Given the description of an element on the screen output the (x, y) to click on. 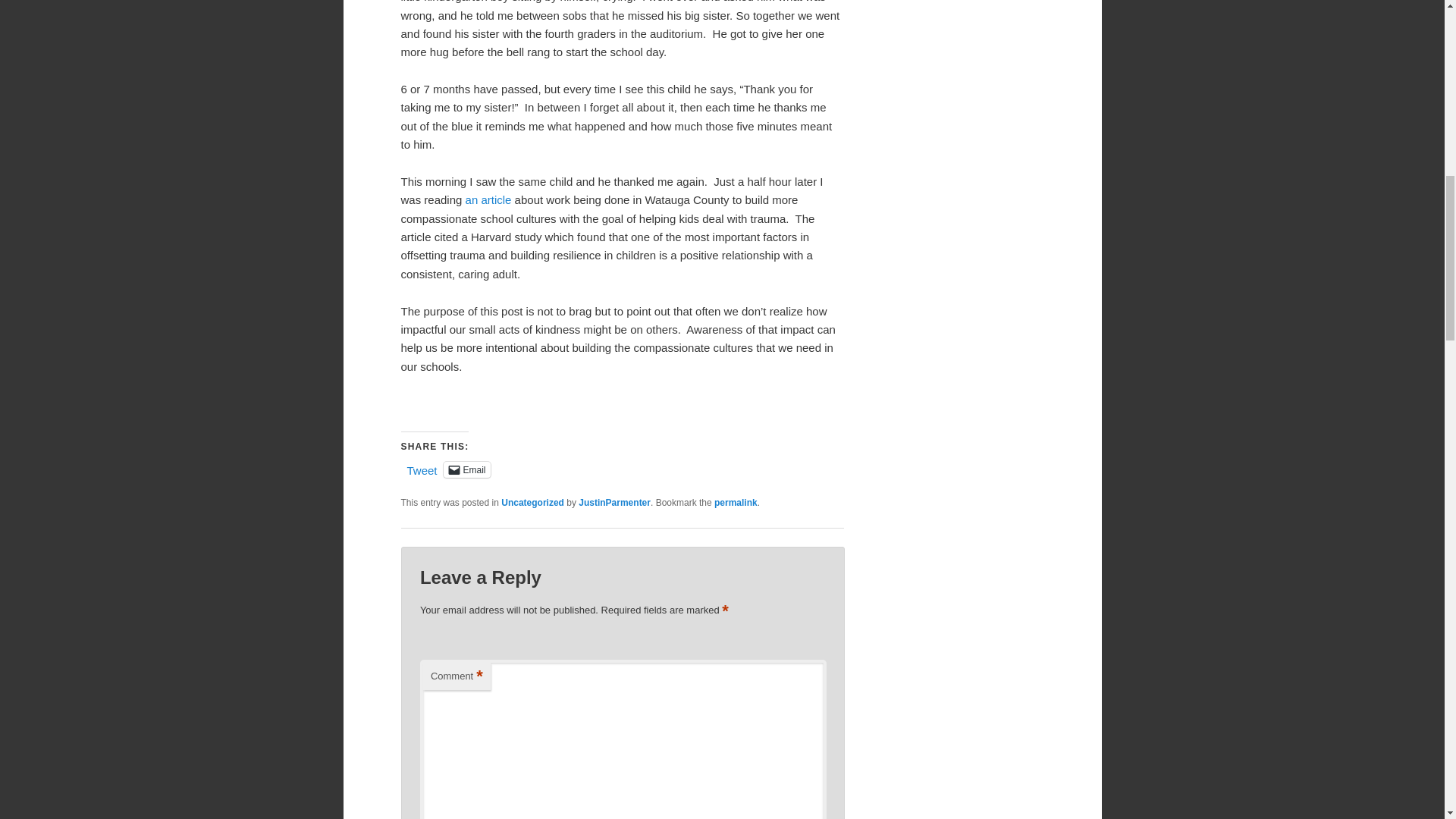
an article (488, 199)
permalink (735, 502)
Tweet (421, 468)
Click to email a link to a friend (467, 469)
Permalink to The unexpected power of kindness (735, 502)
Email (467, 469)
Uncategorized (532, 502)
JustinParmenter (614, 502)
